Given the description of an element on the screen output the (x, y) to click on. 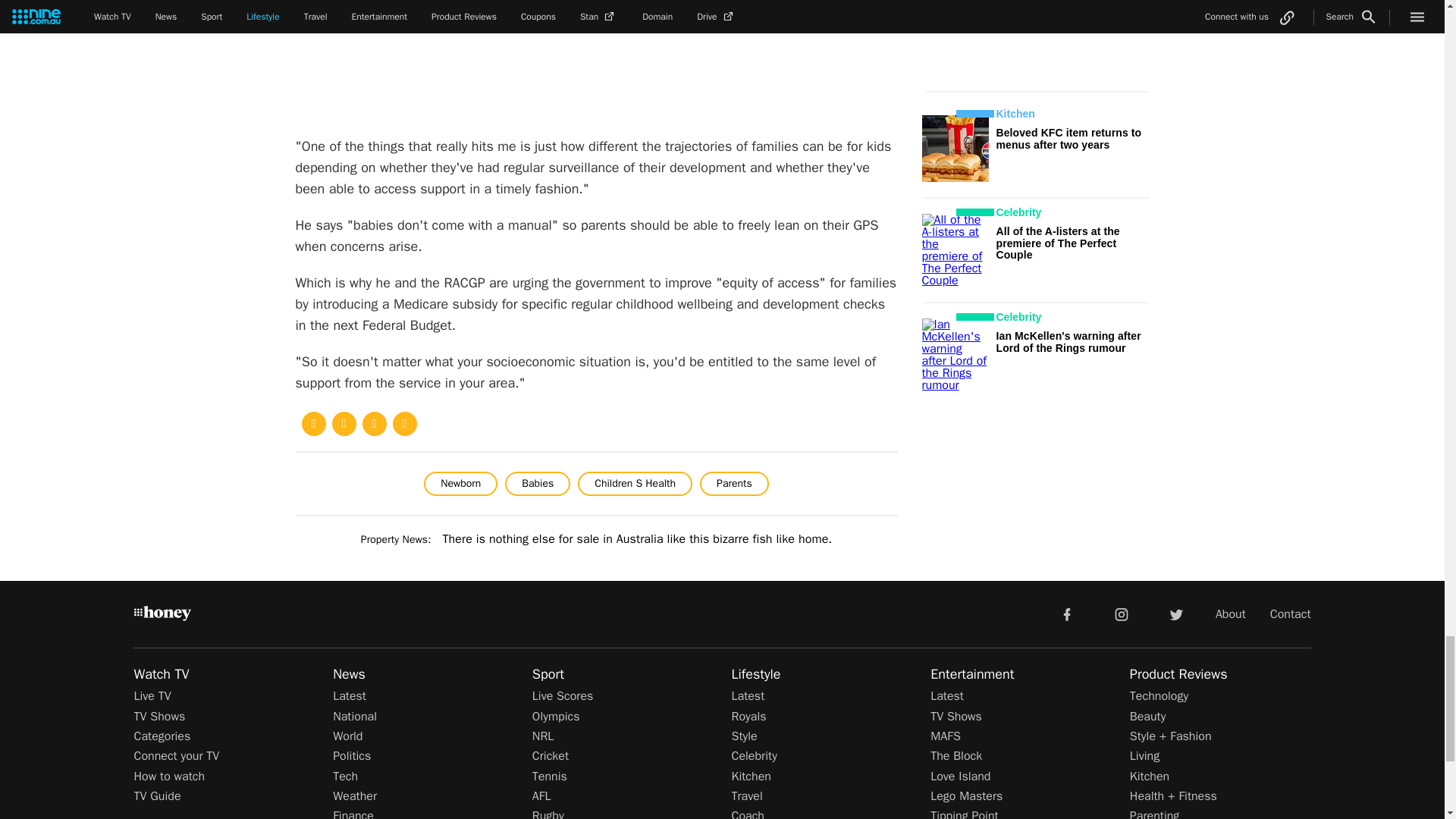
instagram (1121, 613)
facebook (1066, 613)
twitter (1175, 613)
